Given the description of an element on the screen output the (x, y) to click on. 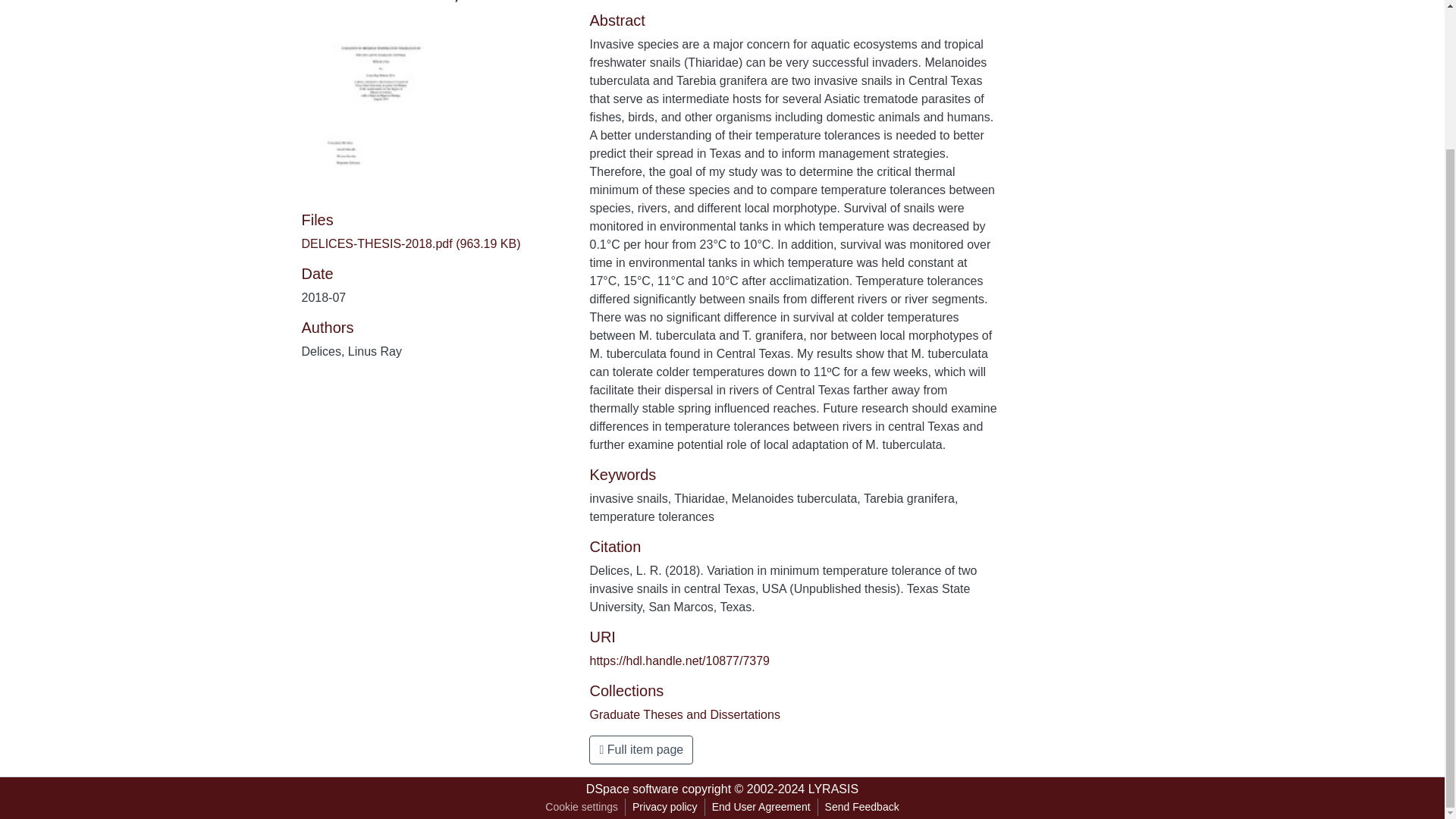
Full item page (641, 749)
End User Agreement (760, 806)
LYRASIS (833, 788)
Privacy policy (665, 806)
Graduate Theses and Dissertations (683, 714)
Send Feedback (861, 806)
Cookie settings (581, 806)
DSpace software (632, 788)
